Given the description of an element on the screen output the (x, y) to click on. 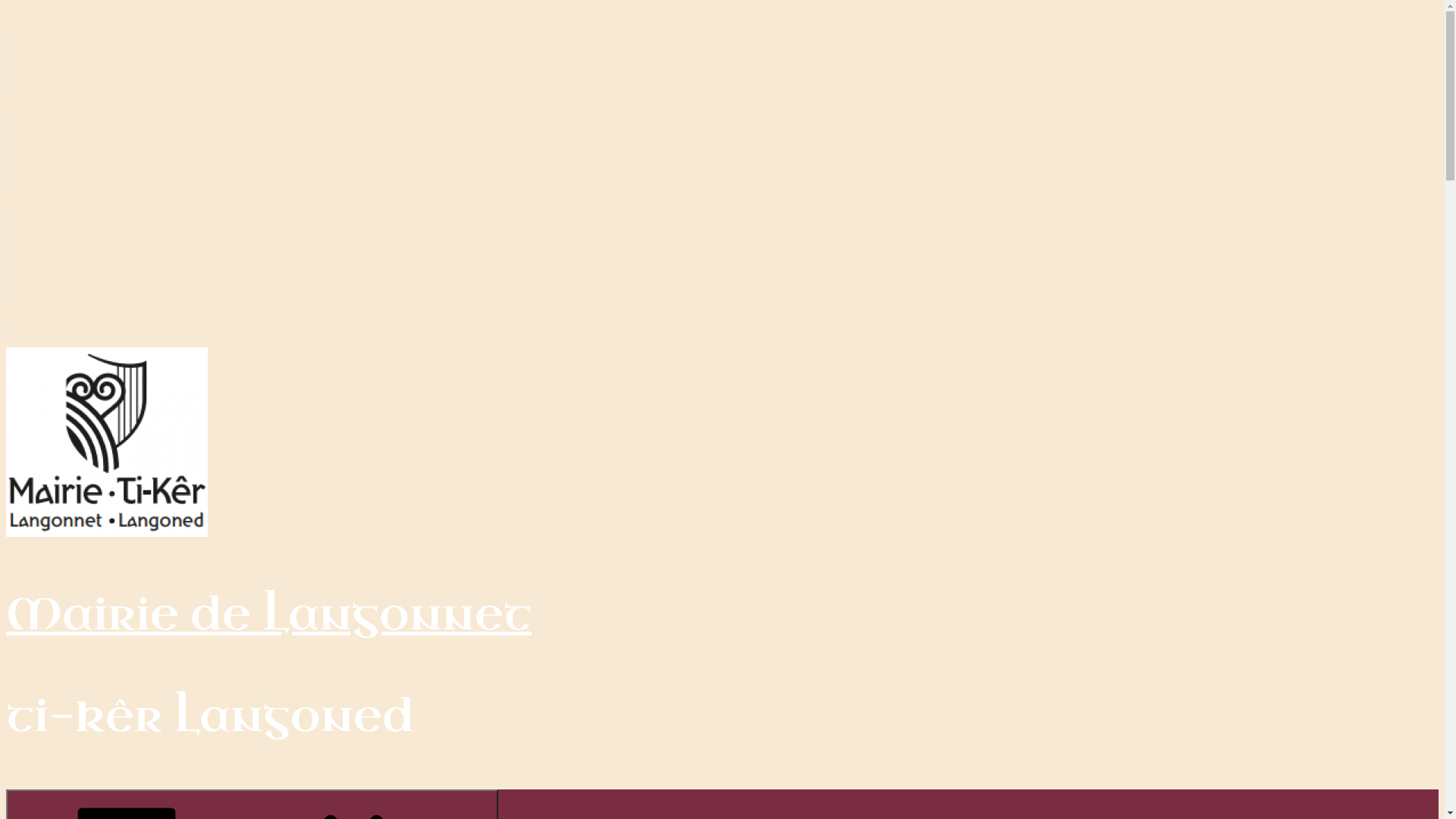
Aller au contenu principal Element type: text (5, 5)
Mairie de Langonnet Element type: text (268, 614)
